Given the description of an element on the screen output the (x, y) to click on. 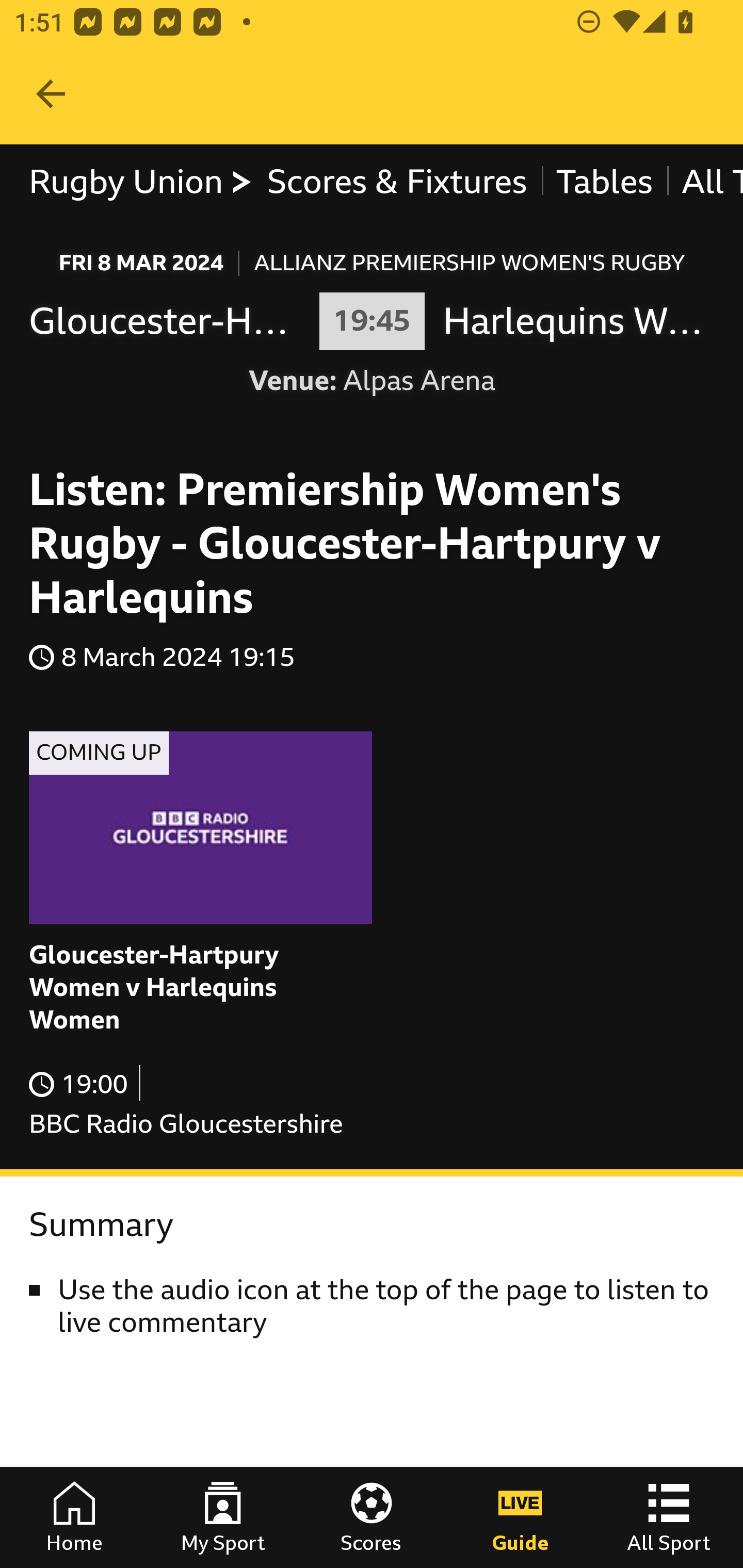
Navigate up (50, 93)
Rugby Union  (140, 181)
Scores & Fixtures (396, 181)
Tables (603, 181)
Home (74, 1517)
My Sport (222, 1517)
Scores (371, 1517)
All Sport (668, 1517)
